Given the description of an element on the screen output the (x, y) to click on. 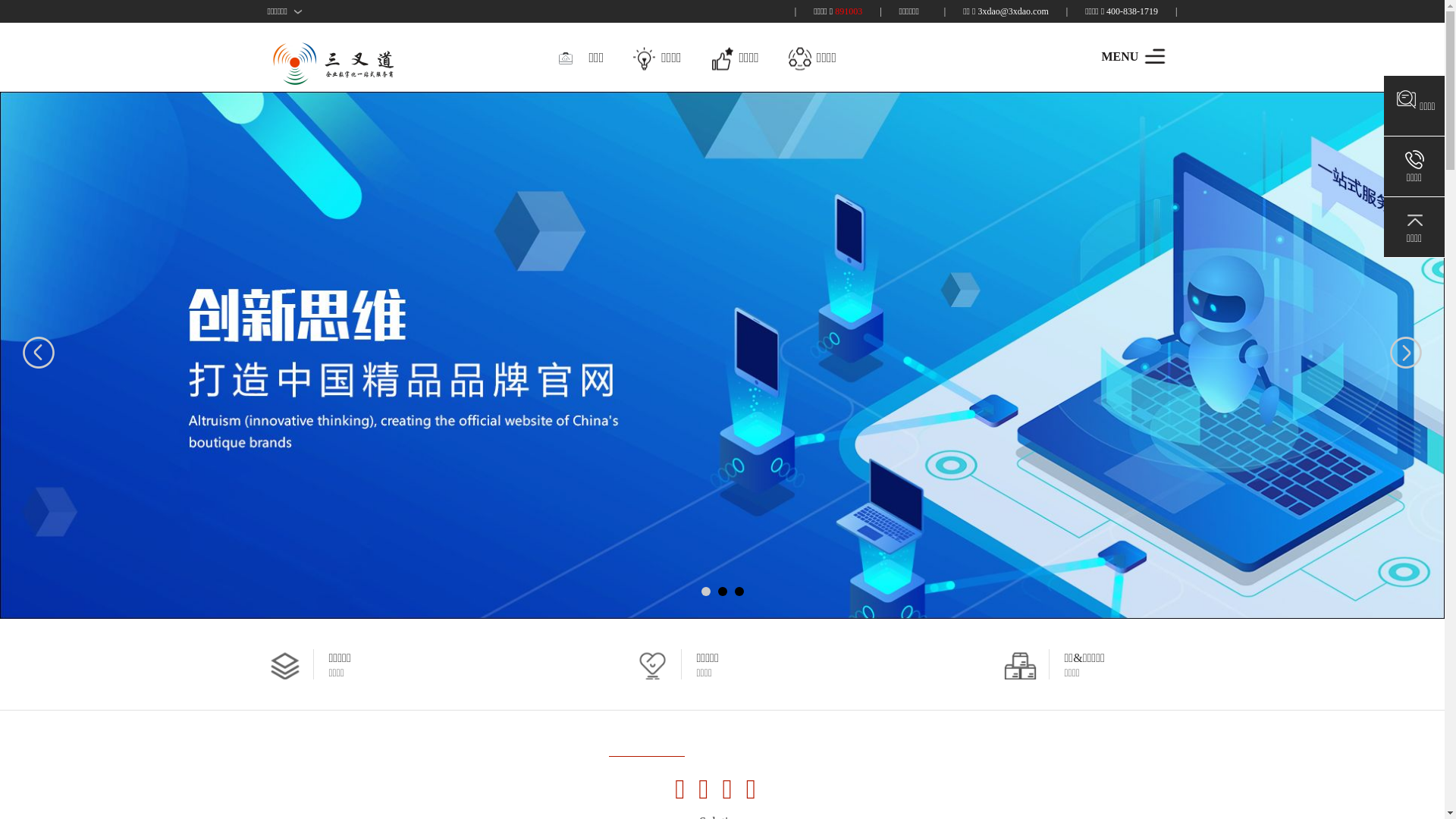
MENU Element type: text (1153, 55)
